Given the description of an element on the screen output the (x, y) to click on. 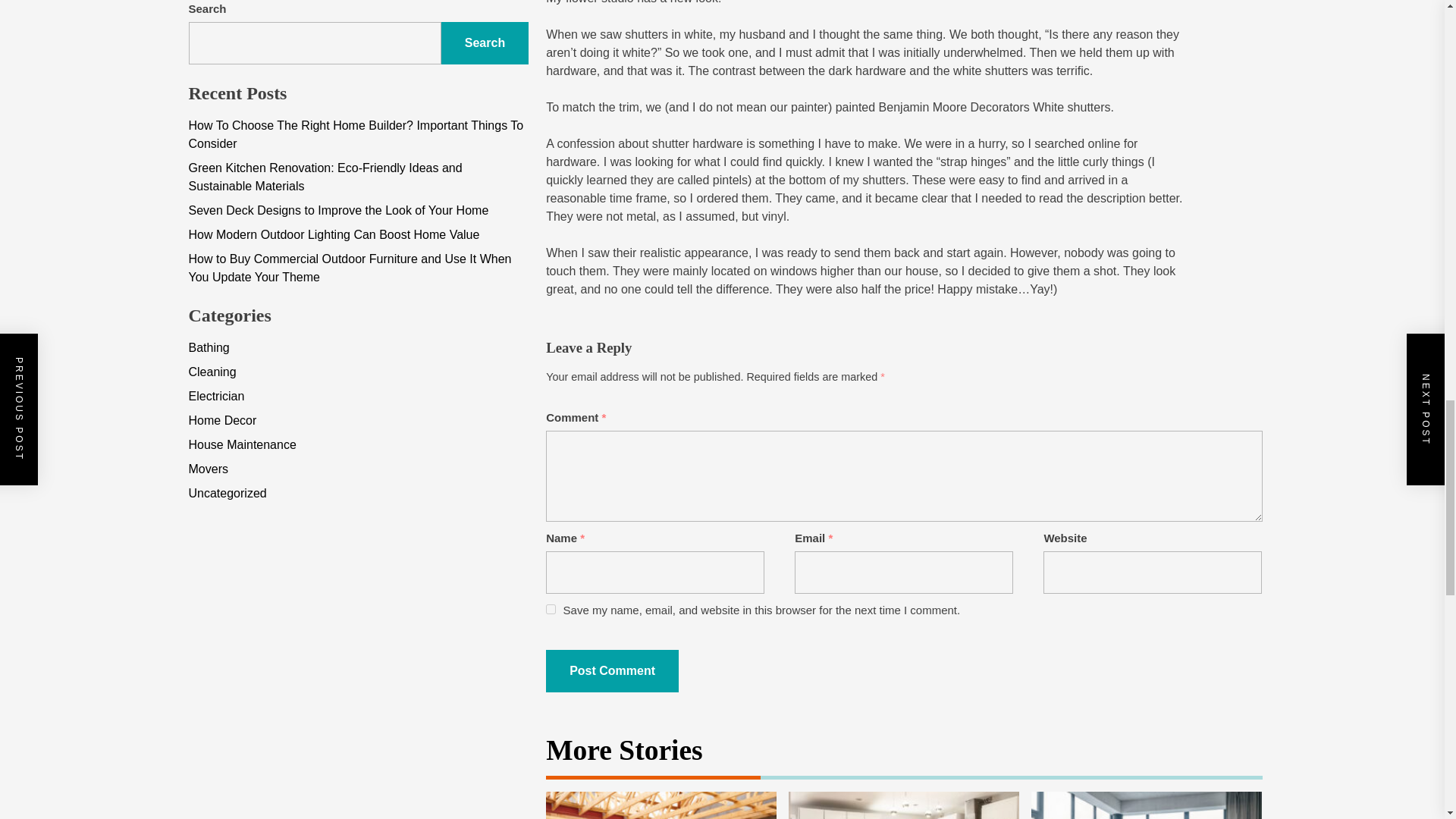
Post Comment (612, 671)
yes (551, 609)
Post Comment (612, 671)
